Given the description of an element on the screen output the (x, y) to click on. 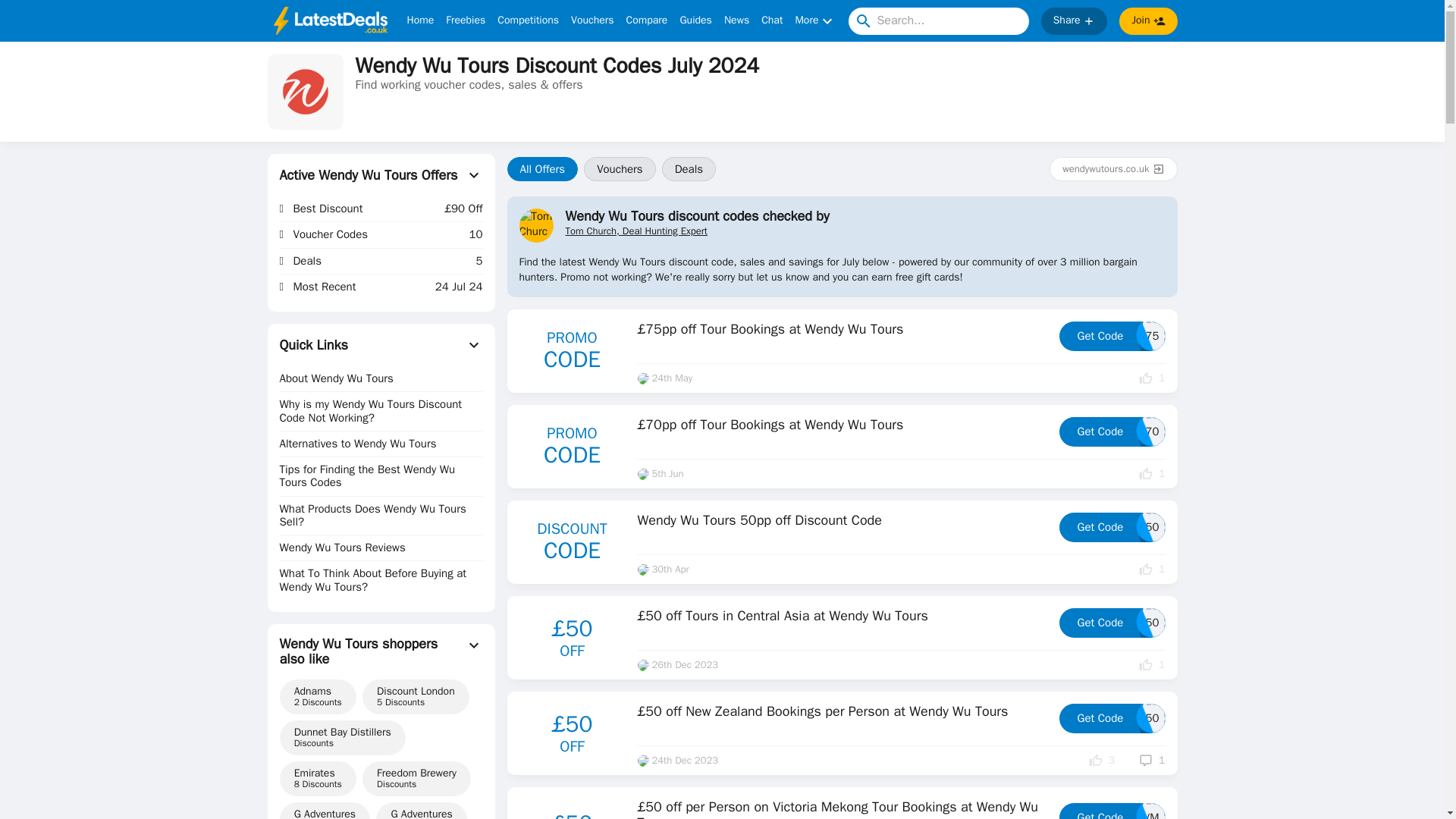
More (1111, 336)
Deals (814, 21)
Home (689, 168)
Wendy Wu Tours 50pp off Discount Code (419, 21)
1 (841, 523)
Guides (1151, 760)
1 (695, 21)
Compare (1151, 664)
wendywutours.co.uk (647, 21)
3 (1112, 168)
Freebies (1102, 760)
